Given the description of an element on the screen output the (x, y) to click on. 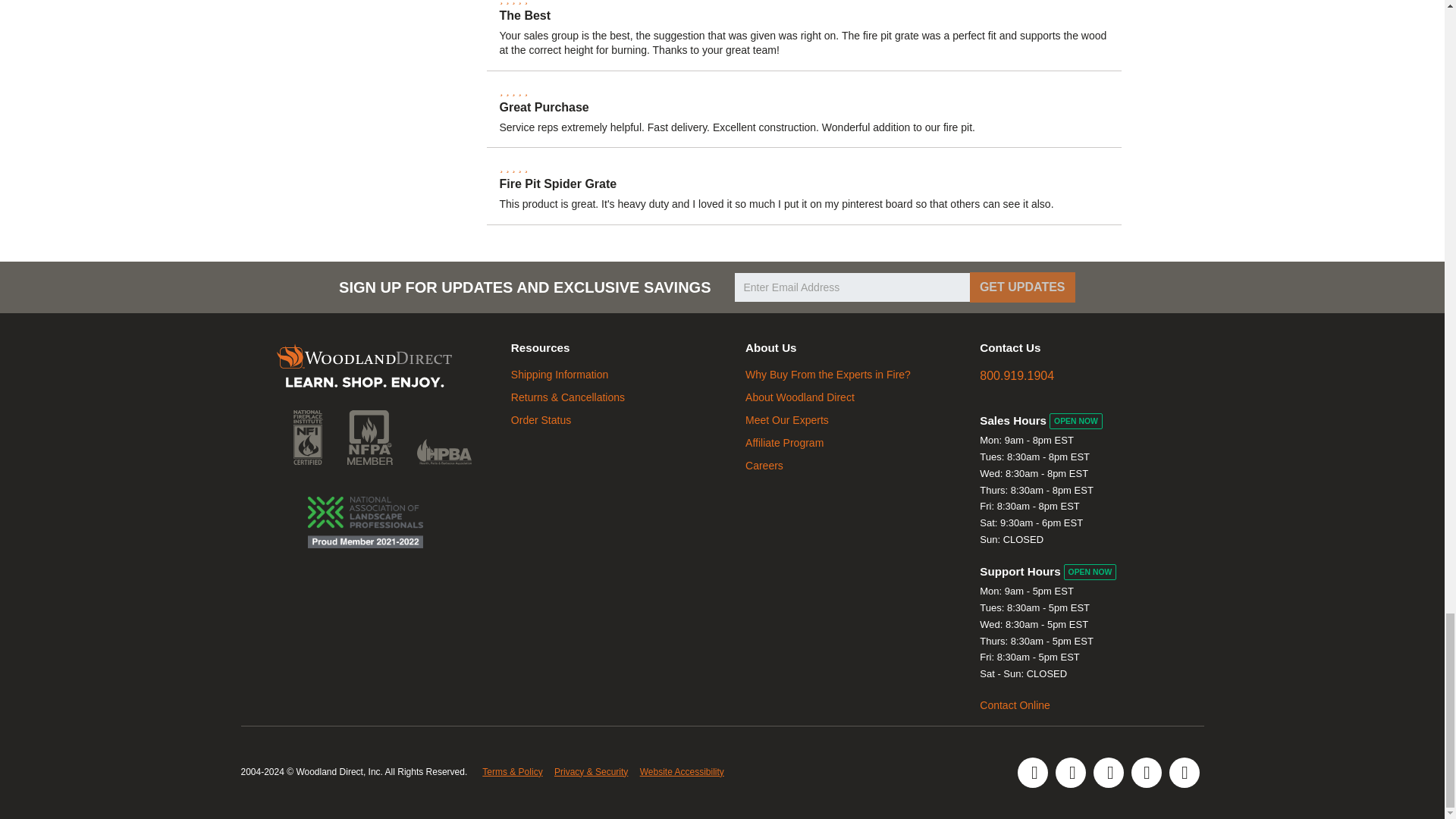
Go to Why Buy From the Experts in Fire (828, 374)
Go to Affiliate Program (784, 442)
Go Home (363, 367)
Call 800.919.1904 (1016, 375)
Go to About Woodland Direct (799, 397)
Go to Shipping Information (559, 374)
Go to Contact Online (1014, 705)
Go to Order Status (540, 419)
Go to Meet Our Experts (786, 419)
Go to Careers (764, 465)
